Given the description of an element on the screen output the (x, y) to click on. 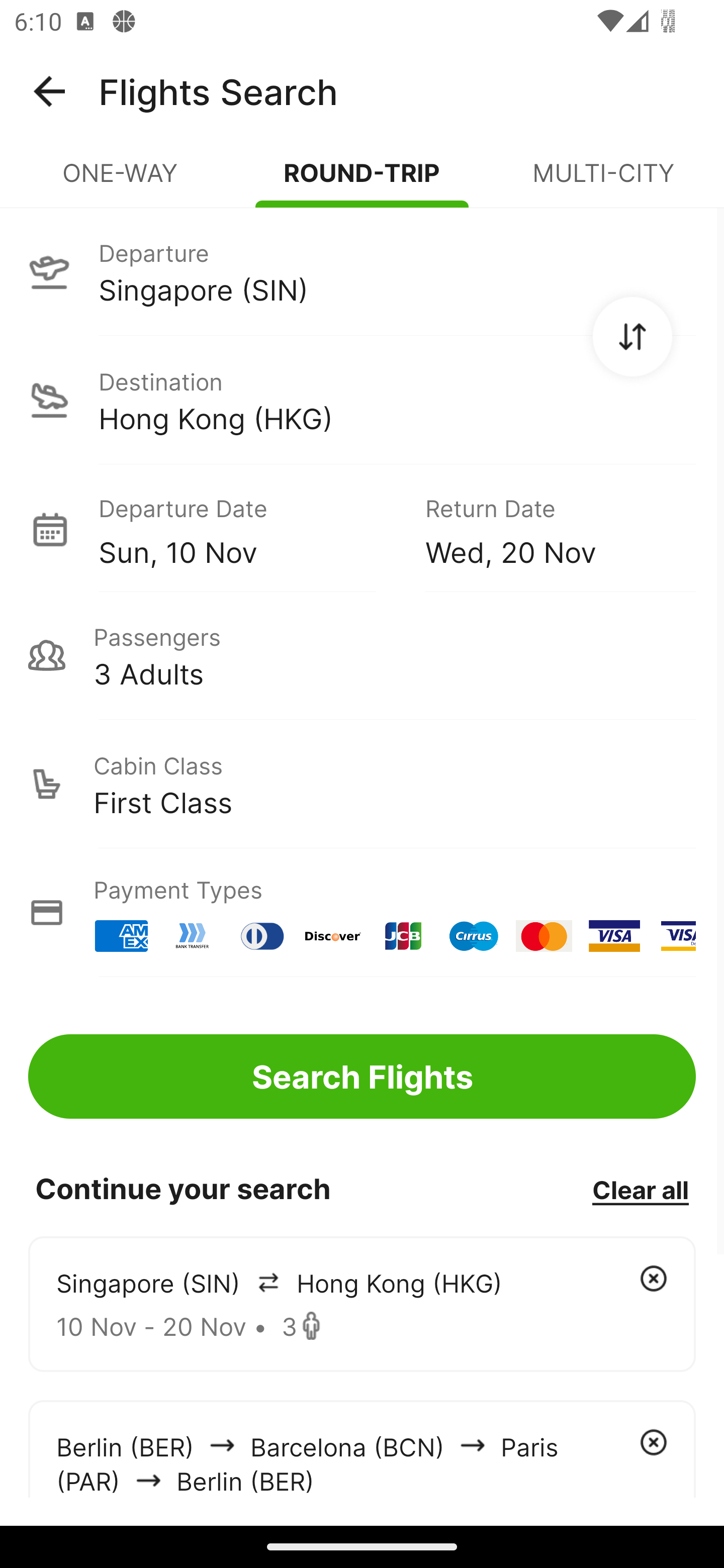
ONE-WAY (120, 180)
ROUND-TRIP (361, 180)
MULTI-CITY (603, 180)
Departure Singapore (SIN) (362, 270)
Destination Hong Kong (HKG) (362, 400)
Departure Date Sun, 10 Nov (247, 528)
Return Date Wed, 20 Nov (546, 528)
Passengers 3 Adults (362, 655)
Cabin Class First Class (362, 783)
Payment Types (362, 912)
Search Flights (361, 1075)
Clear all (640, 1189)
